Given the description of an element on the screen output the (x, y) to click on. 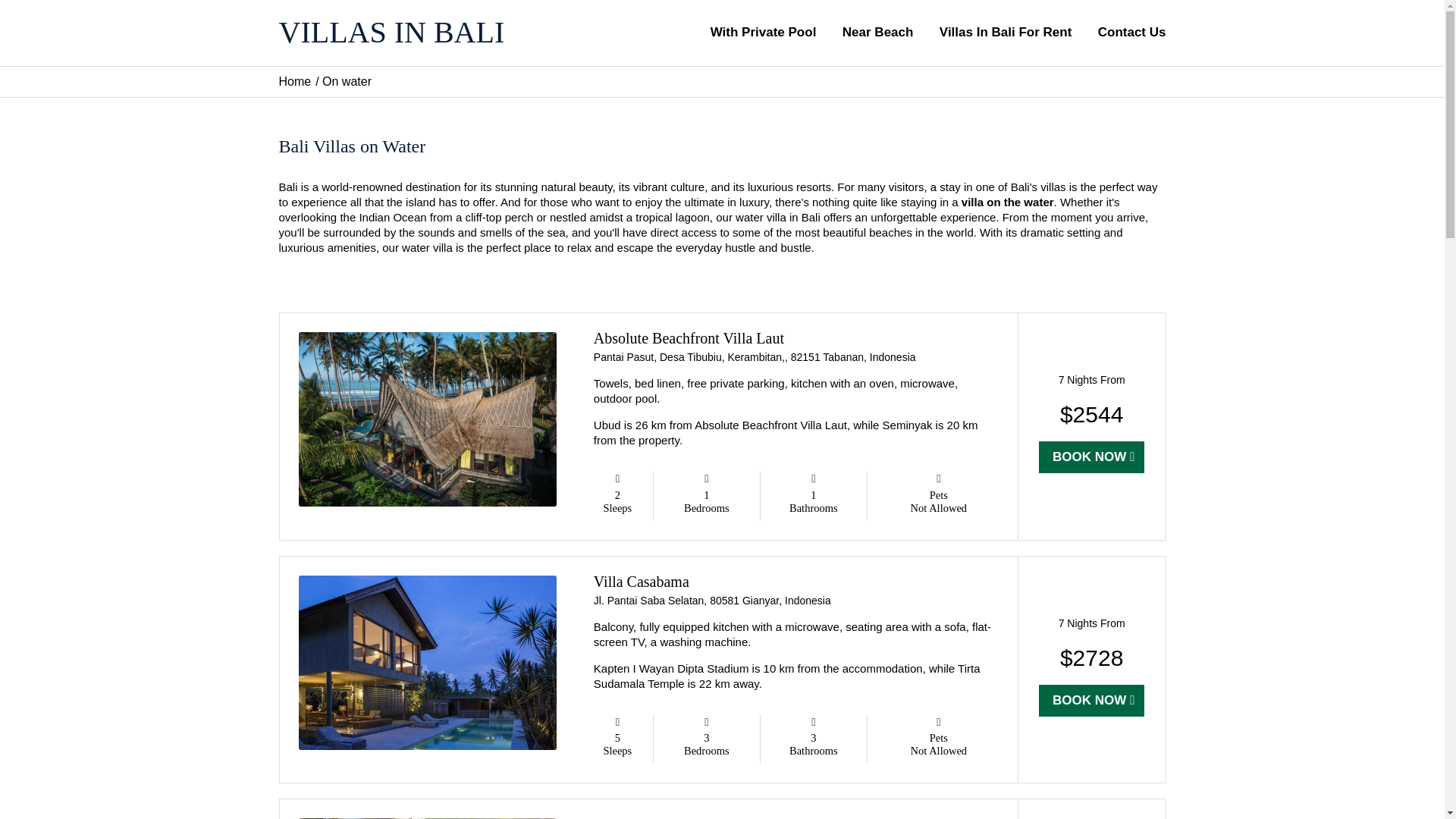
VILLAS IN BALI (456, 32)
Contact Us (1126, 32)
Villa Niketan Sanur-Three bedroom (703, 817)
Home (295, 80)
BOOK NOW (1091, 457)
BOOK NOW (1091, 700)
With Private Pool (763, 32)
Villa Casabama (641, 581)
Near Beach (877, 32)
Absolute Beachfront Villa Laut (689, 338)
Villas In Bali For Rent (1005, 32)
